Given the description of an element on the screen output the (x, y) to click on. 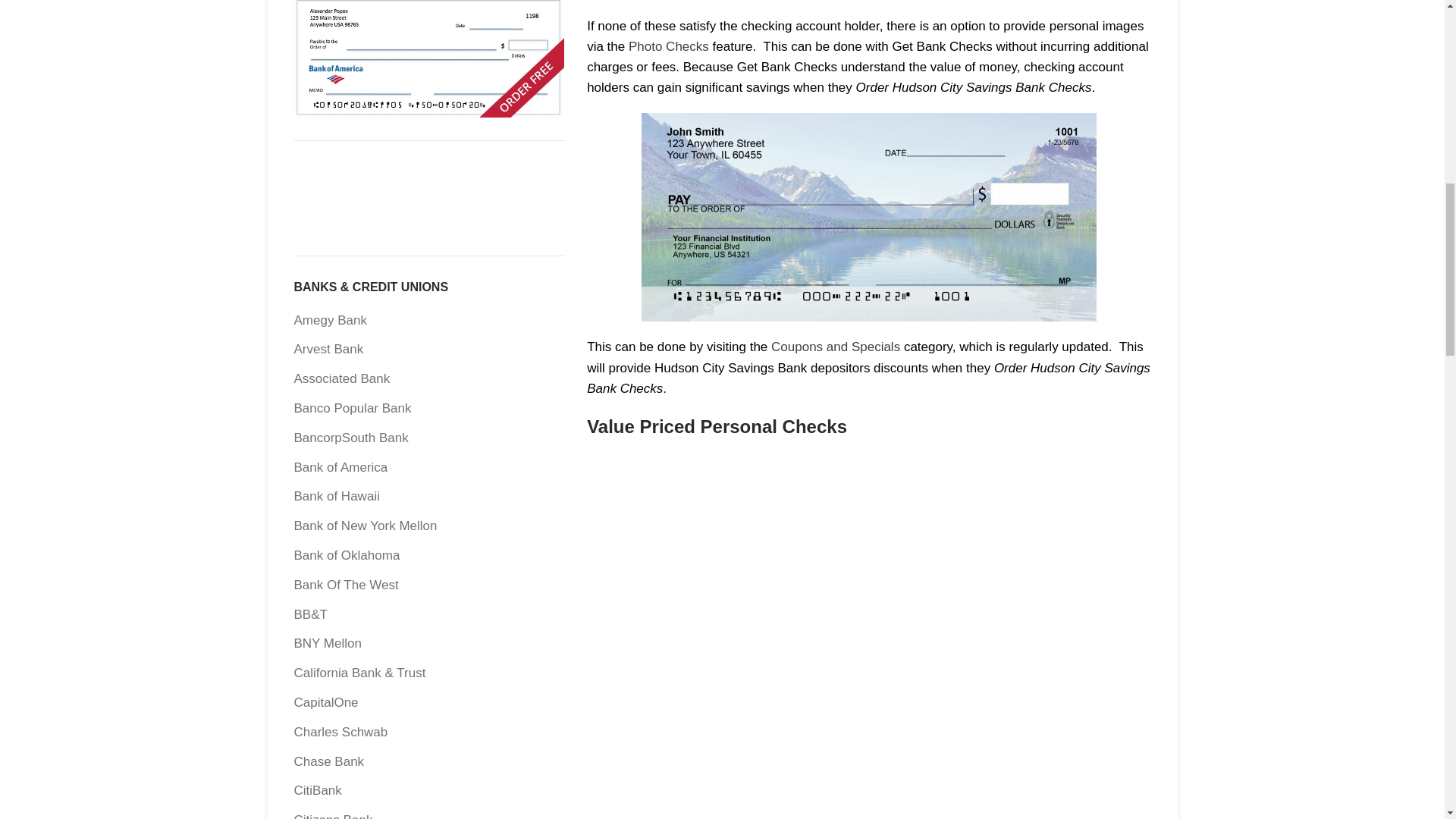
BNY Mellon (327, 643)
Citizens Bank (333, 816)
Bank of Hawaii (337, 495)
Order Photo Checks (668, 46)
Photo Checks (668, 46)
Associated Bank (342, 378)
Bank of America (341, 467)
Banco Popular Bank (353, 408)
Bank Of The West (346, 585)
Arvest Bank (329, 349)
Bank of New York Mellon (366, 525)
CitiBank (318, 789)
Associated Bank (342, 378)
Banco Popular Bank (353, 408)
CapitalOne (326, 702)
